Given the description of an element on the screen output the (x, y) to click on. 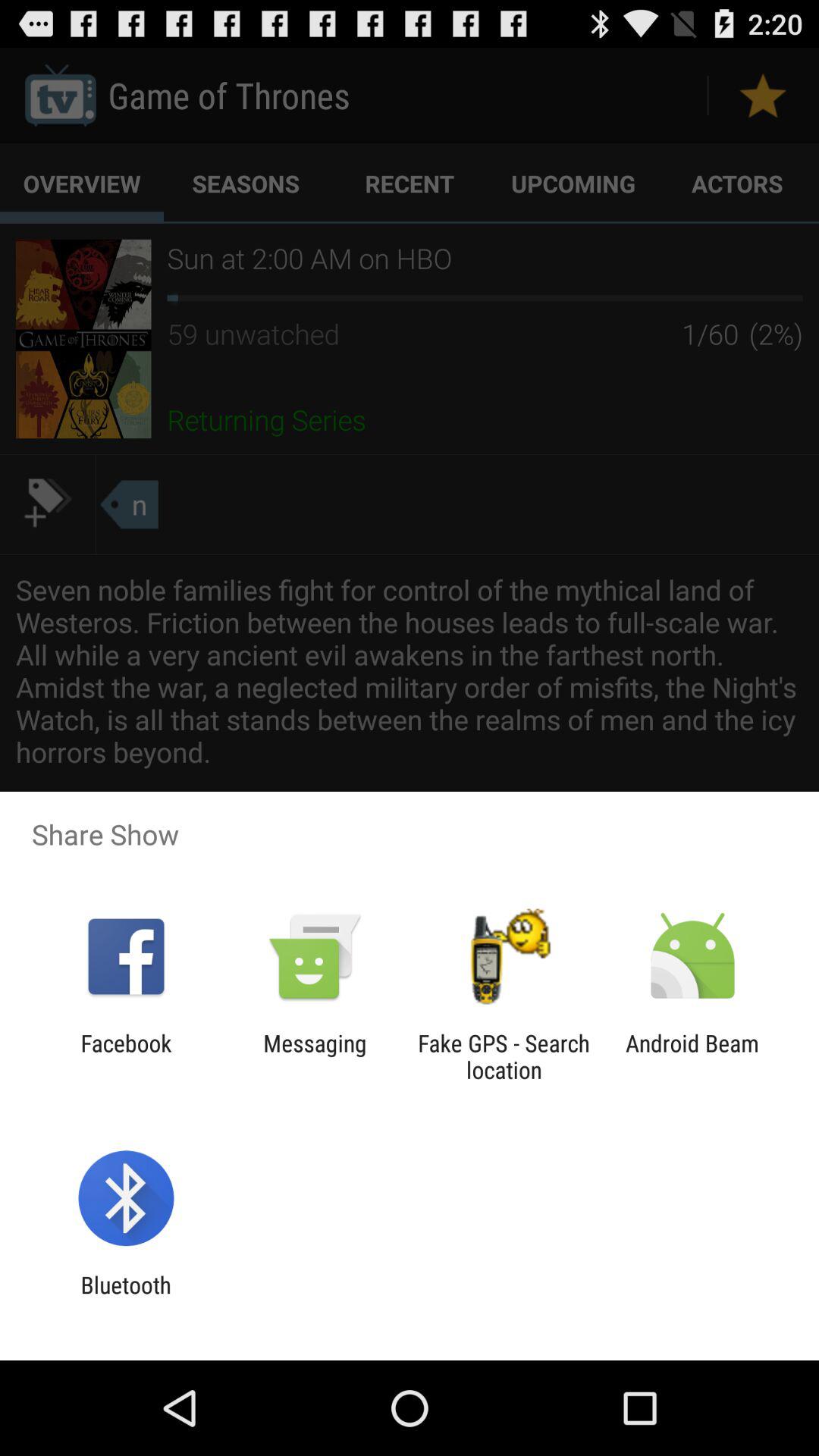
launch the messaging (314, 1056)
